Given the description of an element on the screen output the (x, y) to click on. 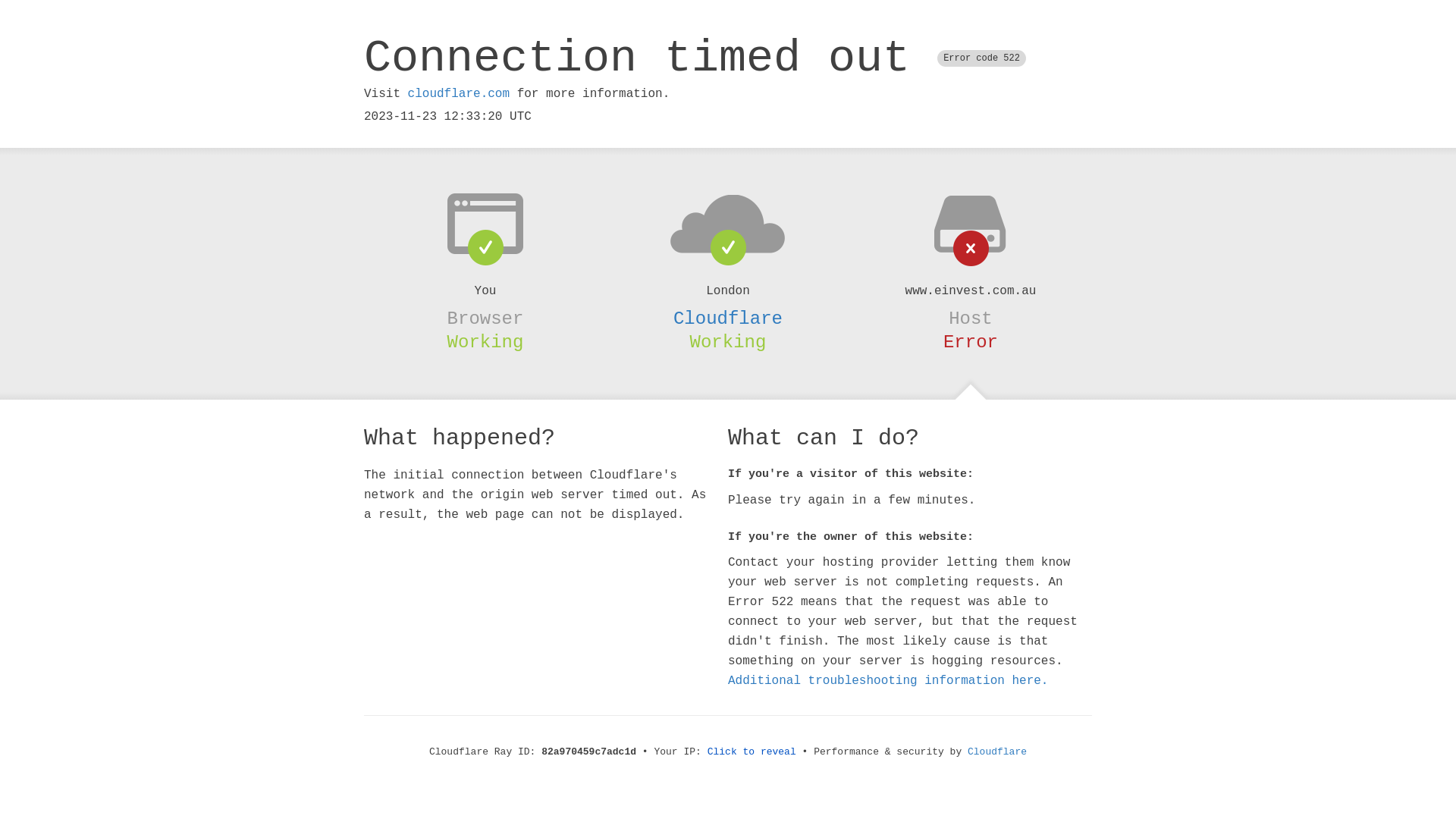
Additional troubleshooting information here. Element type: text (888, 680)
Cloudflare Element type: text (996, 751)
Cloudflare Element type: text (727, 318)
Click to reveal Element type: text (751, 751)
cloudflare.com Element type: text (458, 93)
